Given the description of an element on the screen output the (x, y) to click on. 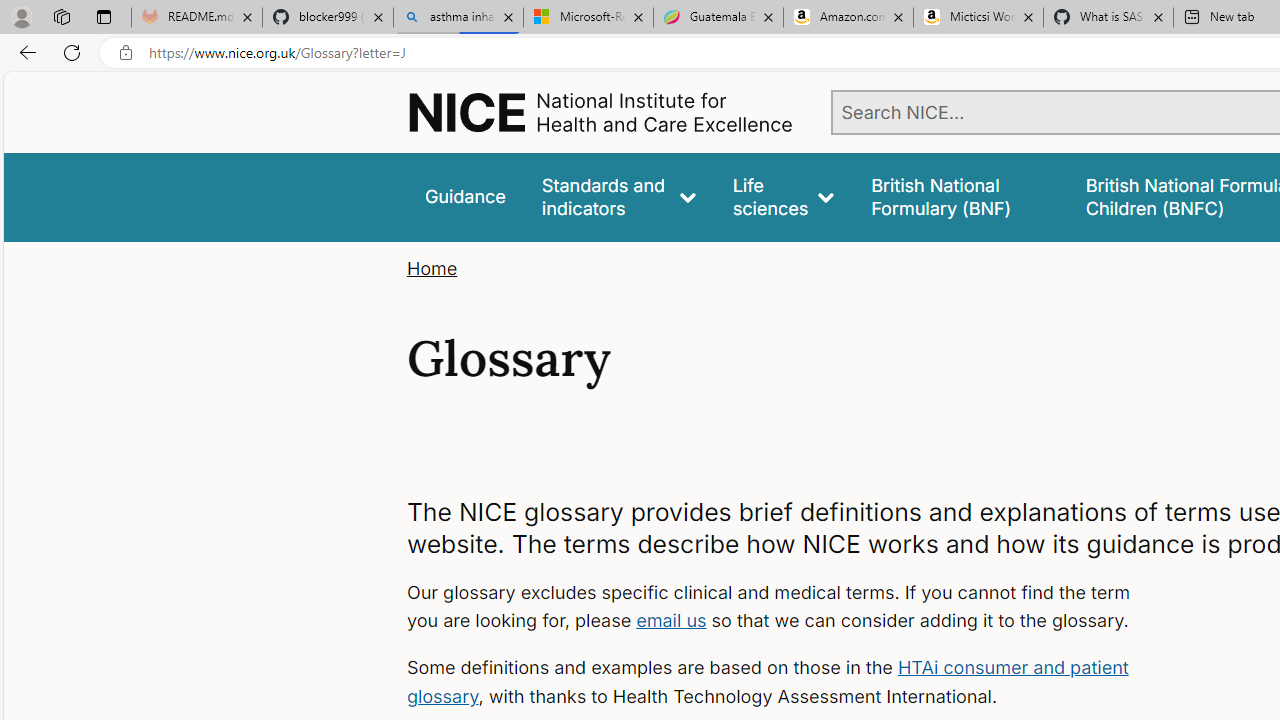
Guidance (464, 196)
Guidance (464, 196)
Life sciences (783, 196)
